Given the description of an element on the screen output the (x, y) to click on. 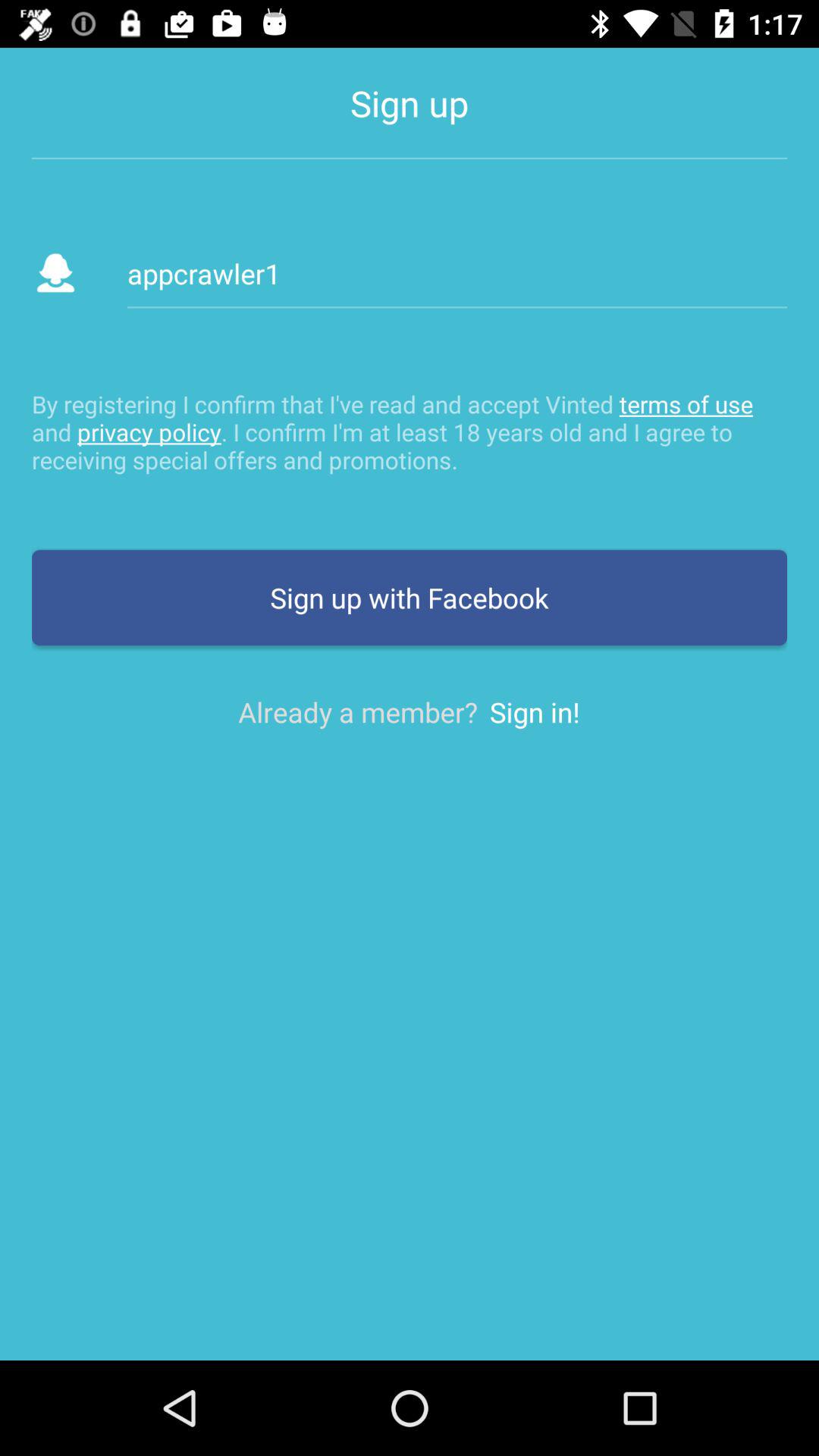
scroll until appcrawler1 (457, 273)
